Given the description of an element on the screen output the (x, y) to click on. 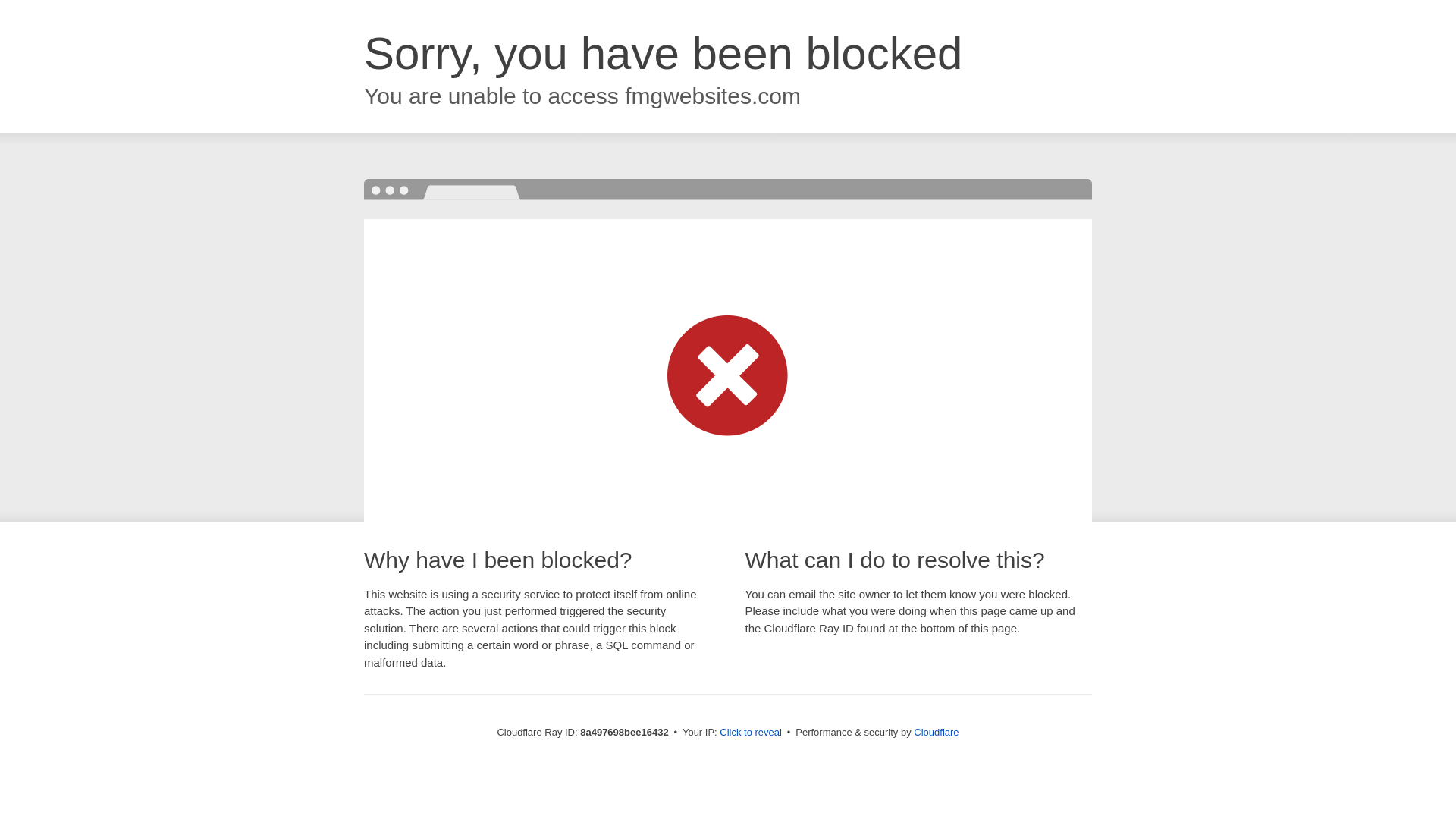
Cloudflare (936, 731)
Click to reveal (750, 732)
